Given the description of an element on the screen output the (x, y) to click on. 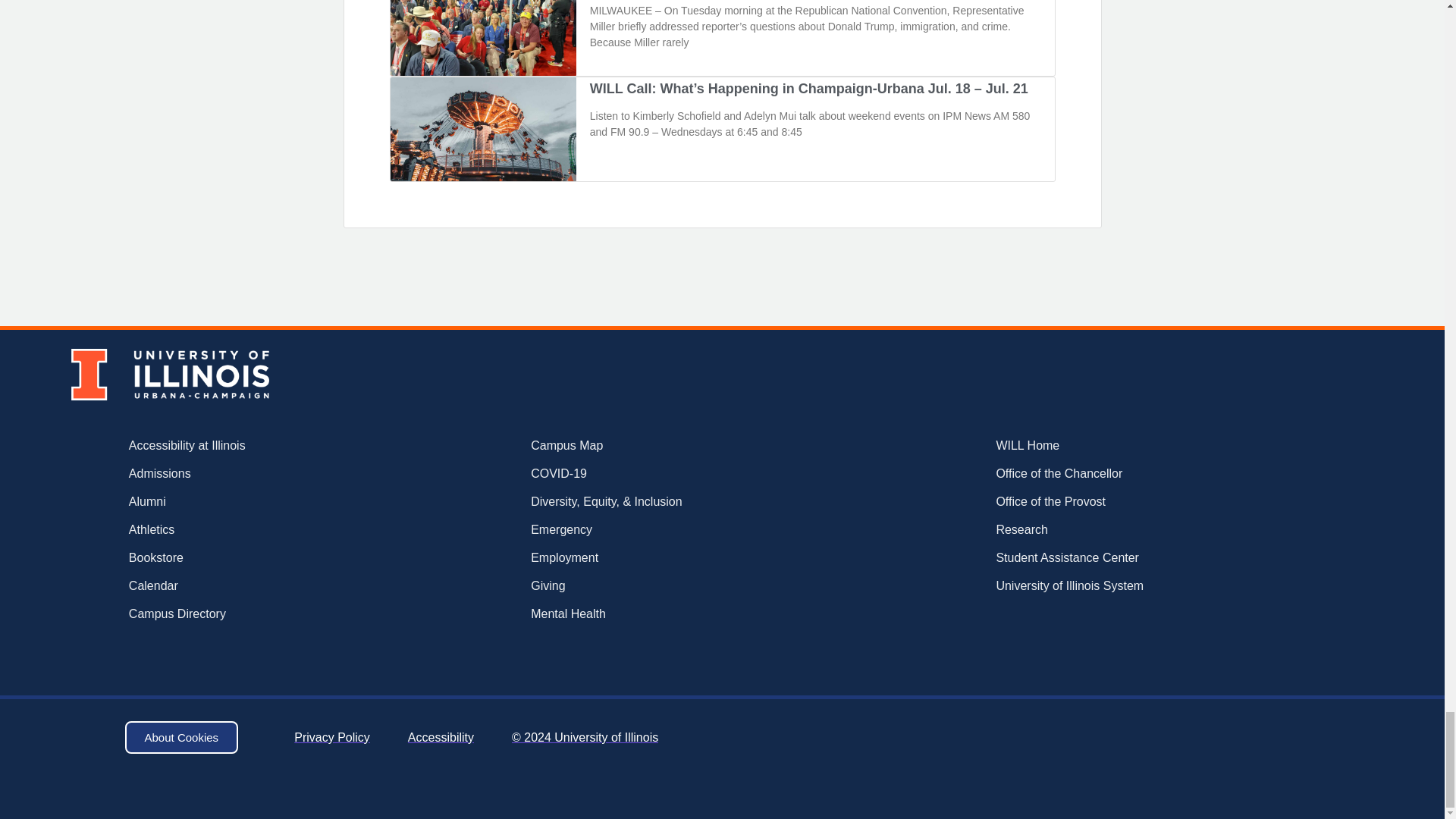
Admissions (235, 474)
Calendar (235, 586)
Bookstore (235, 557)
Accessibility at Illinois (235, 445)
Athletics (235, 529)
Alumni (235, 502)
